Given the description of an element on the screen output the (x, y) to click on. 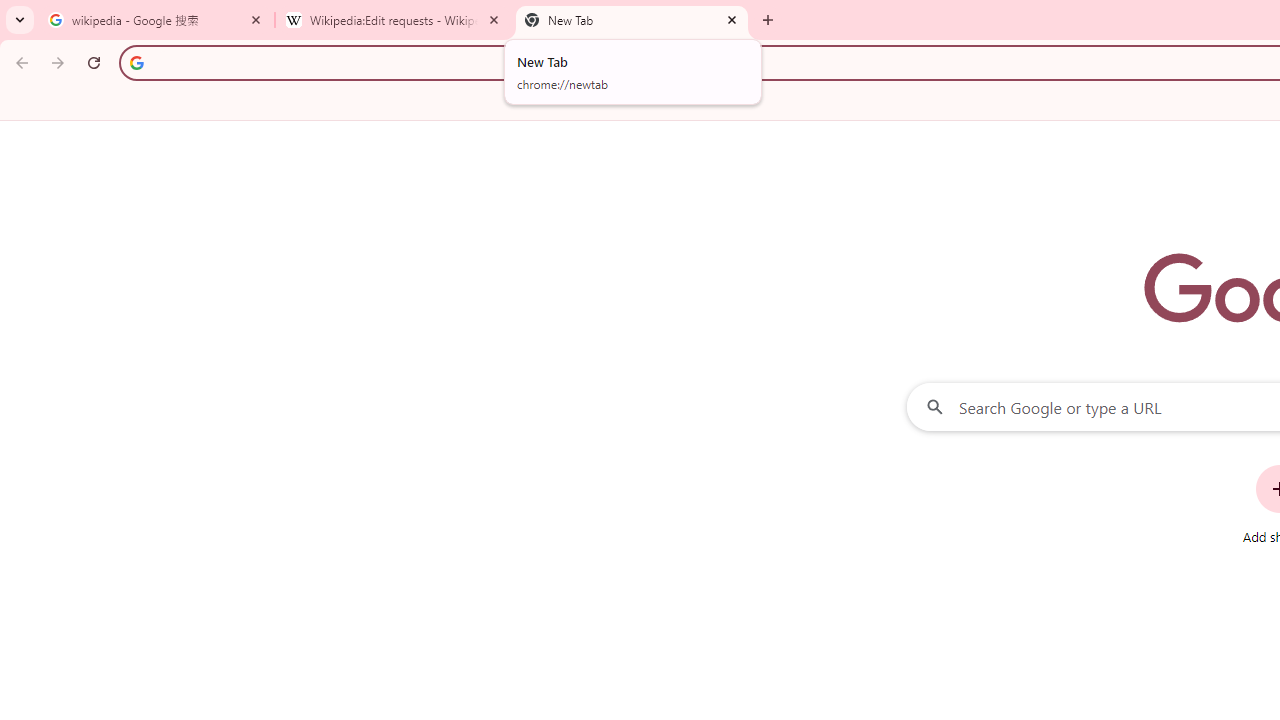
New Tab (632, 20)
Wikipedia:Edit requests - Wikipedia (394, 20)
Search icon (136, 62)
